Given the description of an element on the screen output the (x, y) to click on. 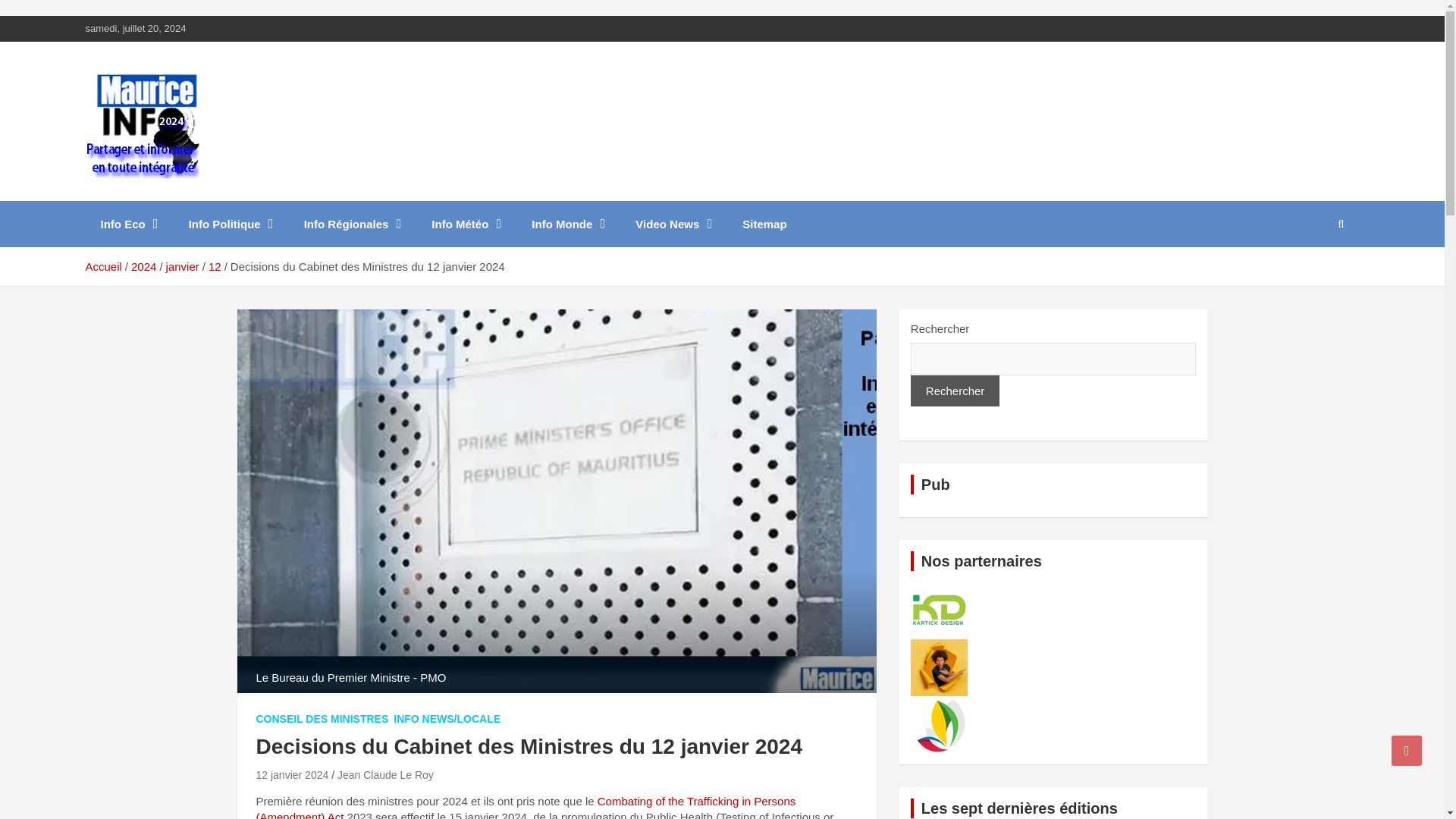
Info Monde (568, 223)
Video News (673, 223)
12 (214, 266)
2024 (143, 266)
CONSEIL DES MINISTRES (322, 719)
Info Politique (230, 223)
Decisions du Cabinet des Ministres du 12 janvier 2024 (292, 775)
Info Eco (128, 223)
janvier (182, 266)
